Given the description of an element on the screen output the (x, y) to click on. 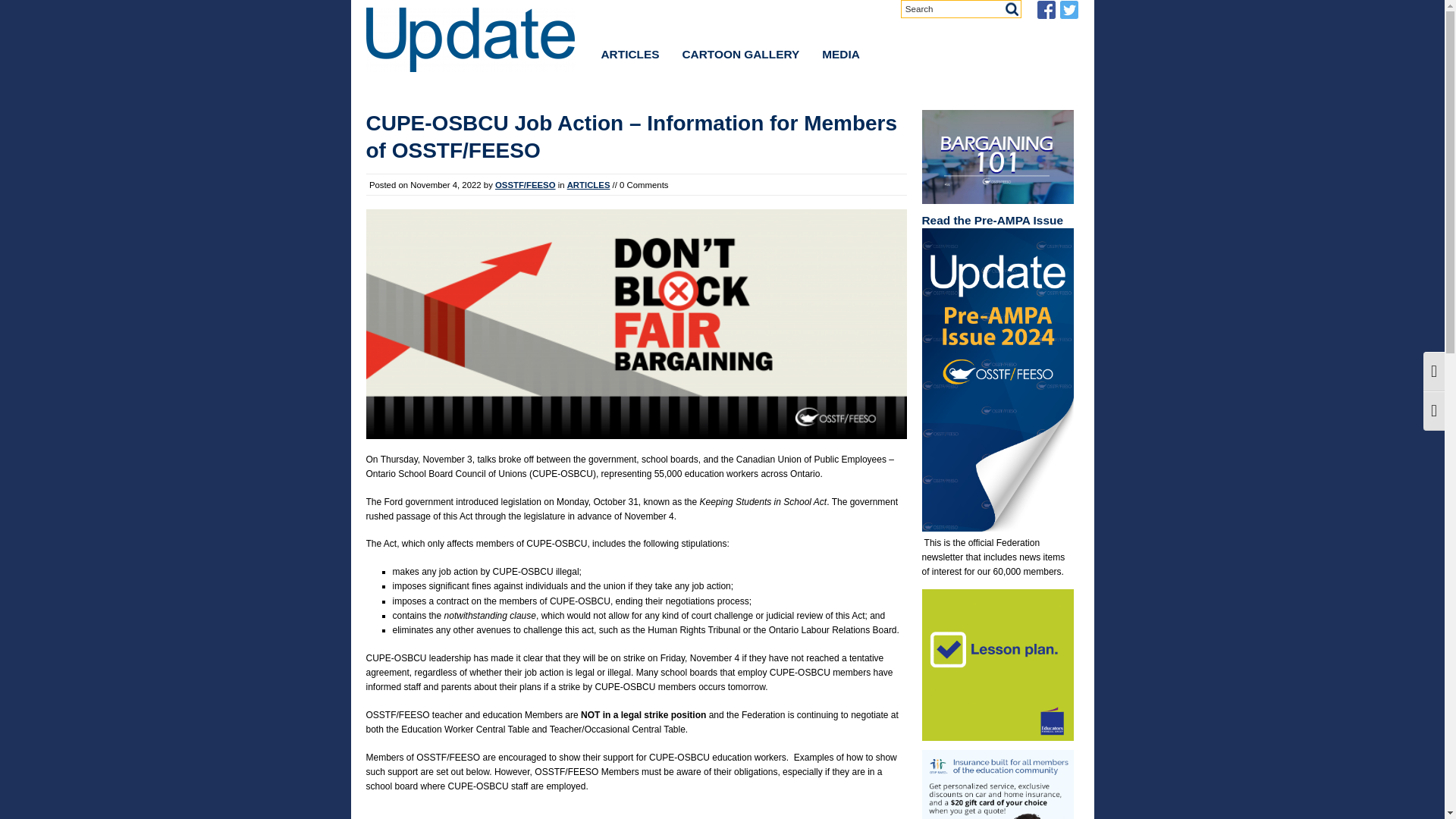
Search (964, 8)
ARTICLES (588, 184)
MEDIA (840, 54)
ARTICLES (630, 54)
CARTOON GALLERY (739, 54)
